Given the description of an element on the screen output the (x, y) to click on. 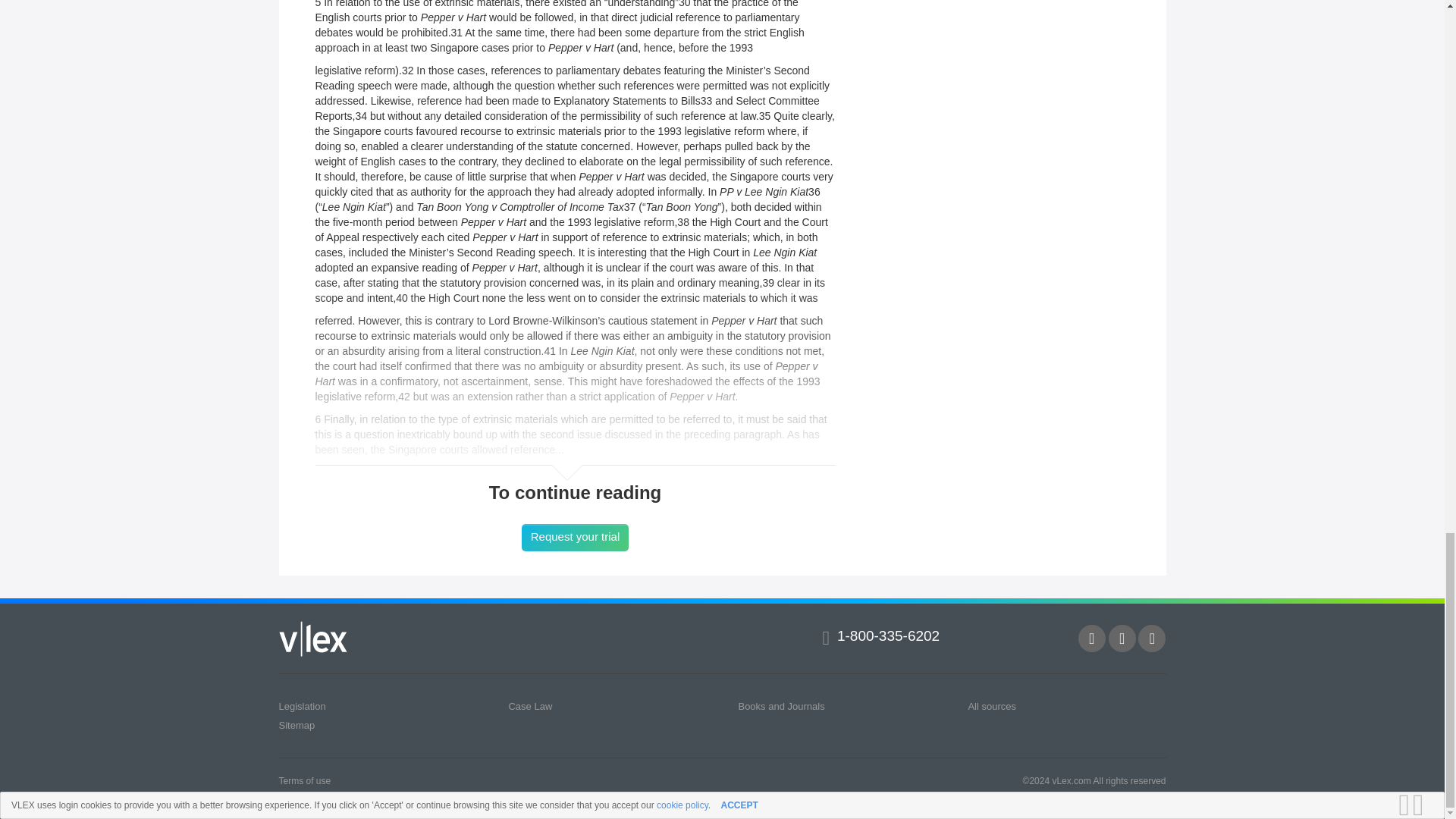
Legislation (302, 706)
All sources (992, 706)
Sitemap (297, 724)
Sitemap (297, 724)
All sources (992, 706)
vLex (313, 637)
Terms of use (305, 779)
Case Law (529, 706)
Terms of use (305, 779)
Case Law (529, 706)
